Given the description of an element on the screen output the (x, y) to click on. 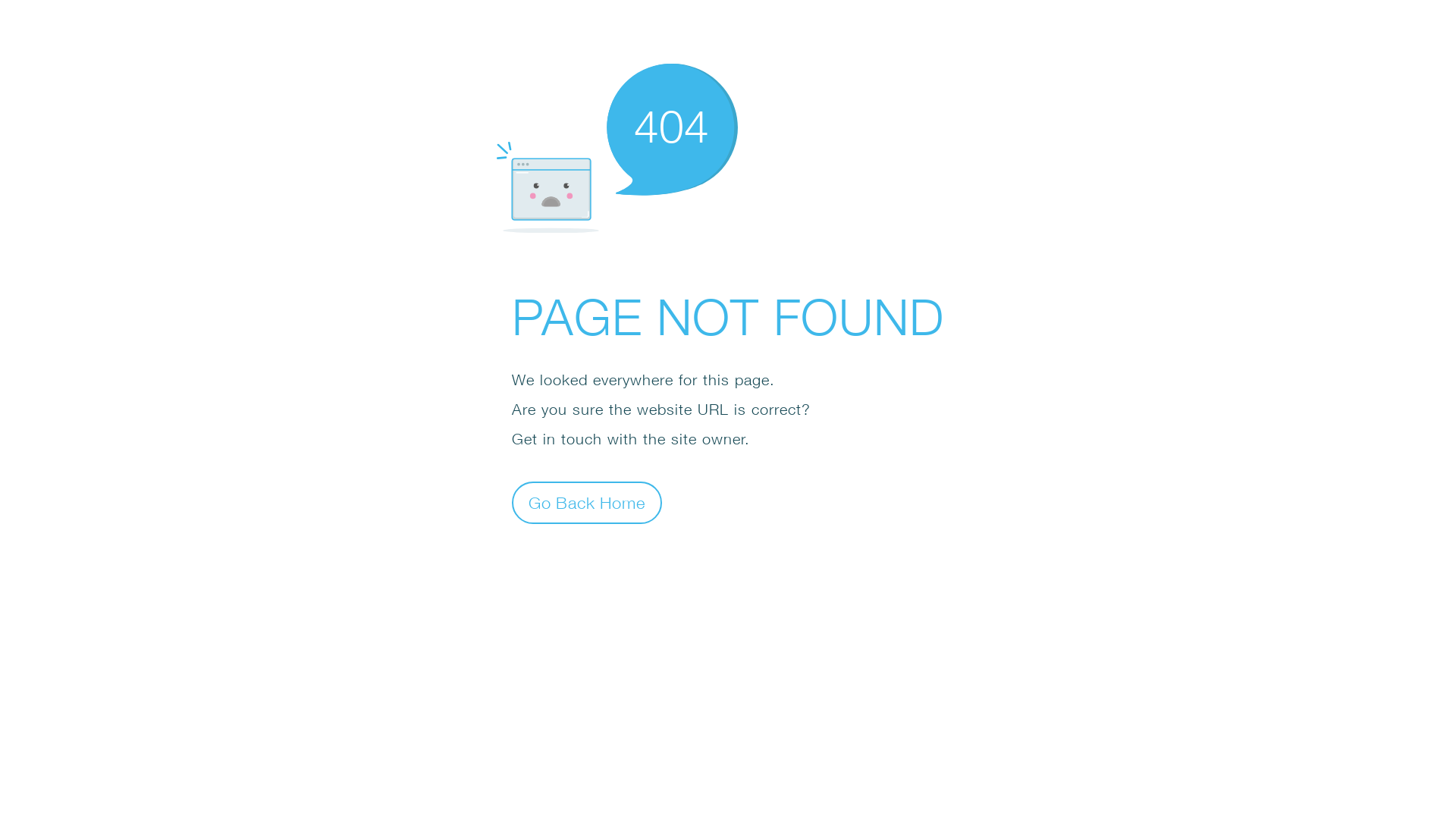
Go Back Home Element type: text (586, 502)
